Given the description of an element on the screen output the (x, y) to click on. 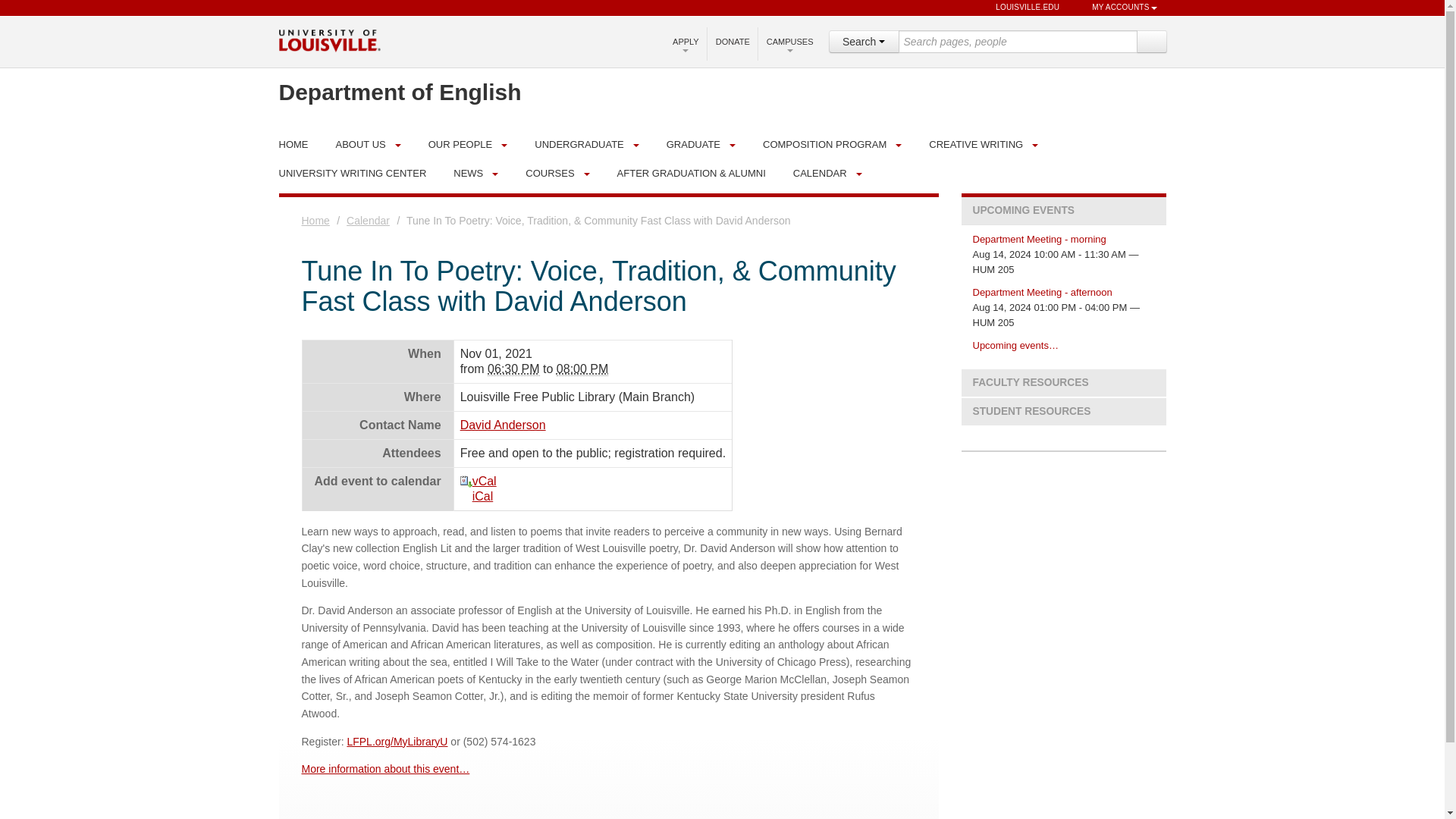
Search  (863, 41)
LOUISVILLE.EDU (1020, 7)
Search (1150, 41)
MY ACCOUNTS (1117, 7)
University of Louisville (329, 39)
Go (1150, 41)
APPLY (685, 43)
